Given the description of an element on the screen output the (x, y) to click on. 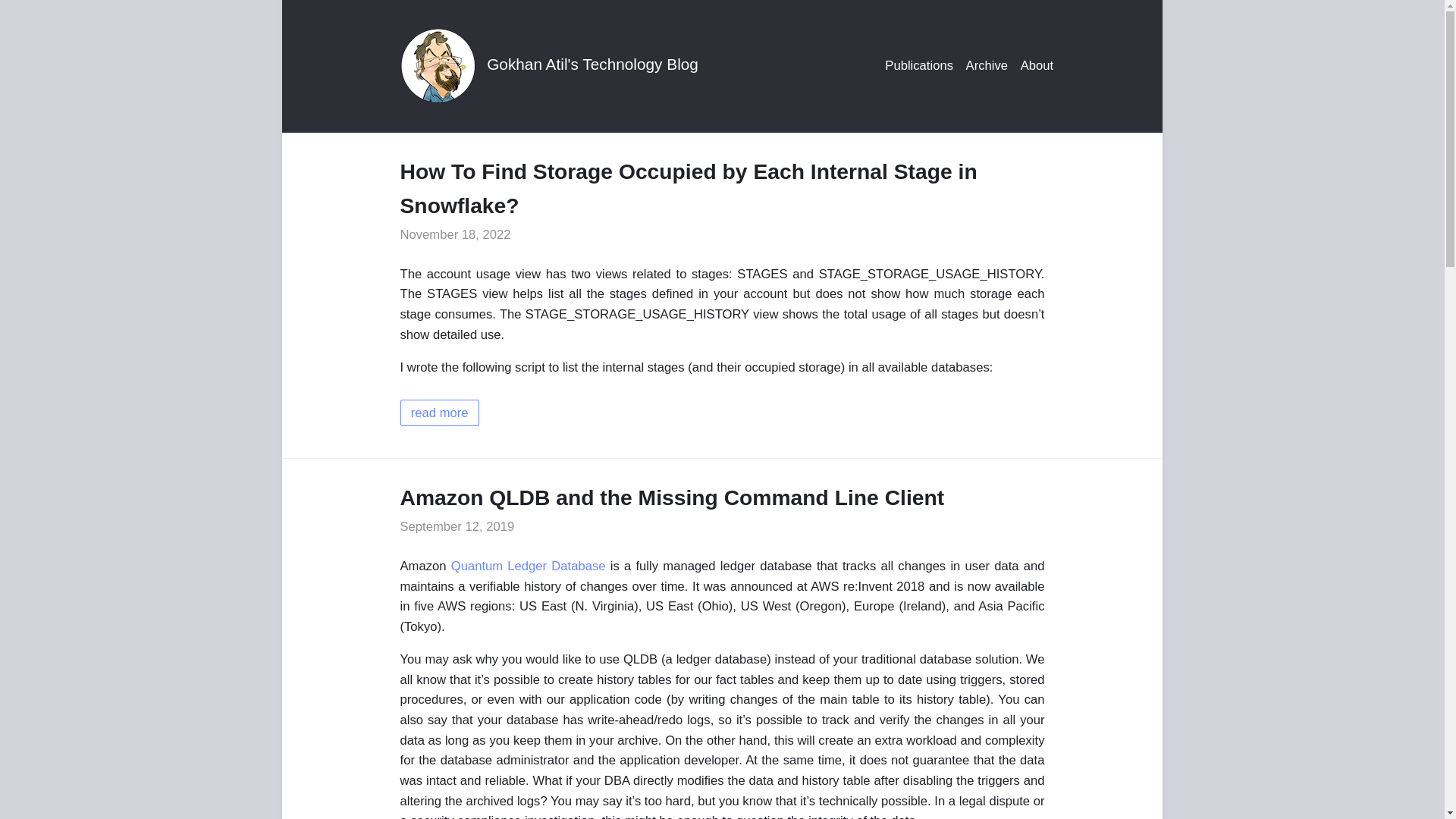
Gokhan Atil's Technology Blog (592, 63)
Quantum Ledger Database (528, 565)
Gokhan (441, 65)
read more (439, 412)
